Given the description of an element on the screen output the (x, y) to click on. 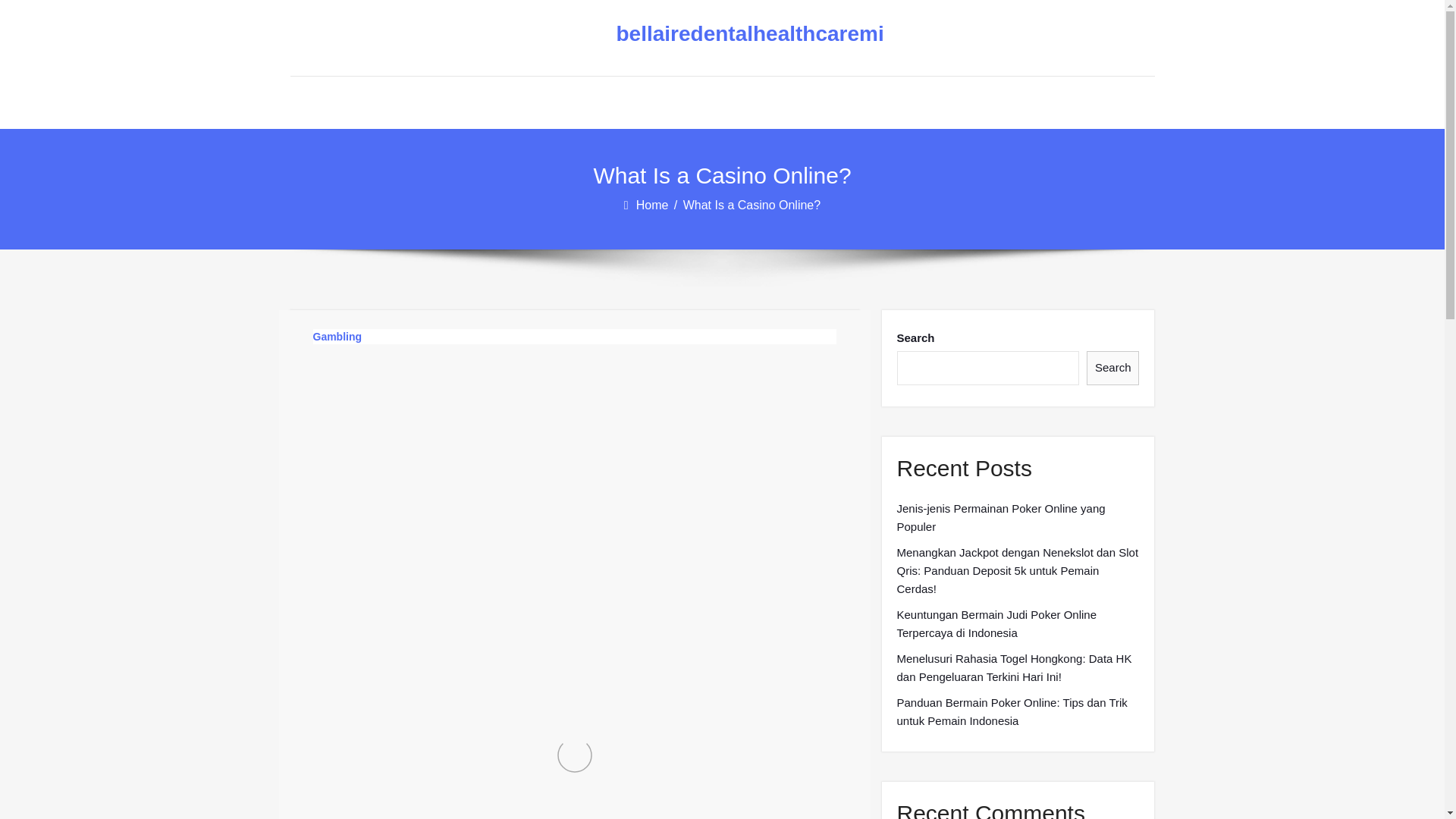
20Juli2022 (366, 402)
Search (1113, 367)
Home (653, 205)
Keuntungan Bermain Judi Poker Online Terpercaya di Indonesia (1017, 624)
Gambling (337, 336)
Jenis-jenis Permainan Poker Online yang Populer (1017, 517)
June 1, 2023 (464, 402)
